Given the description of an element on the screen output the (x, y) to click on. 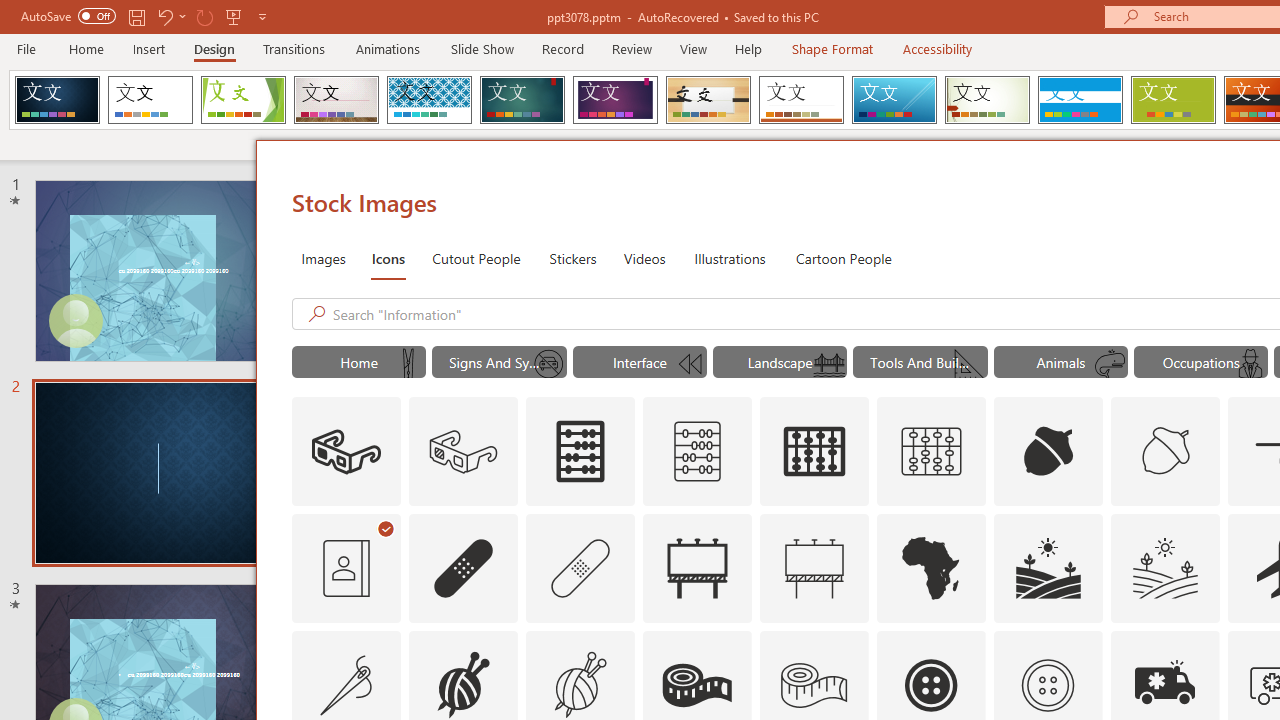
AutomationID: Icons_AdhesiveBandage (463, 568)
AutomationID: Icons_3dGlasses (346, 452)
Ion Boardroom (615, 100)
Thumbnail (1204, 645)
"Animals" Icons. (1060, 362)
Slice (893, 100)
Office Theme (150, 100)
AutomationID: Icons_AddressBook_RTL_M (346, 568)
